Given the description of an element on the screen output the (x, y) to click on. 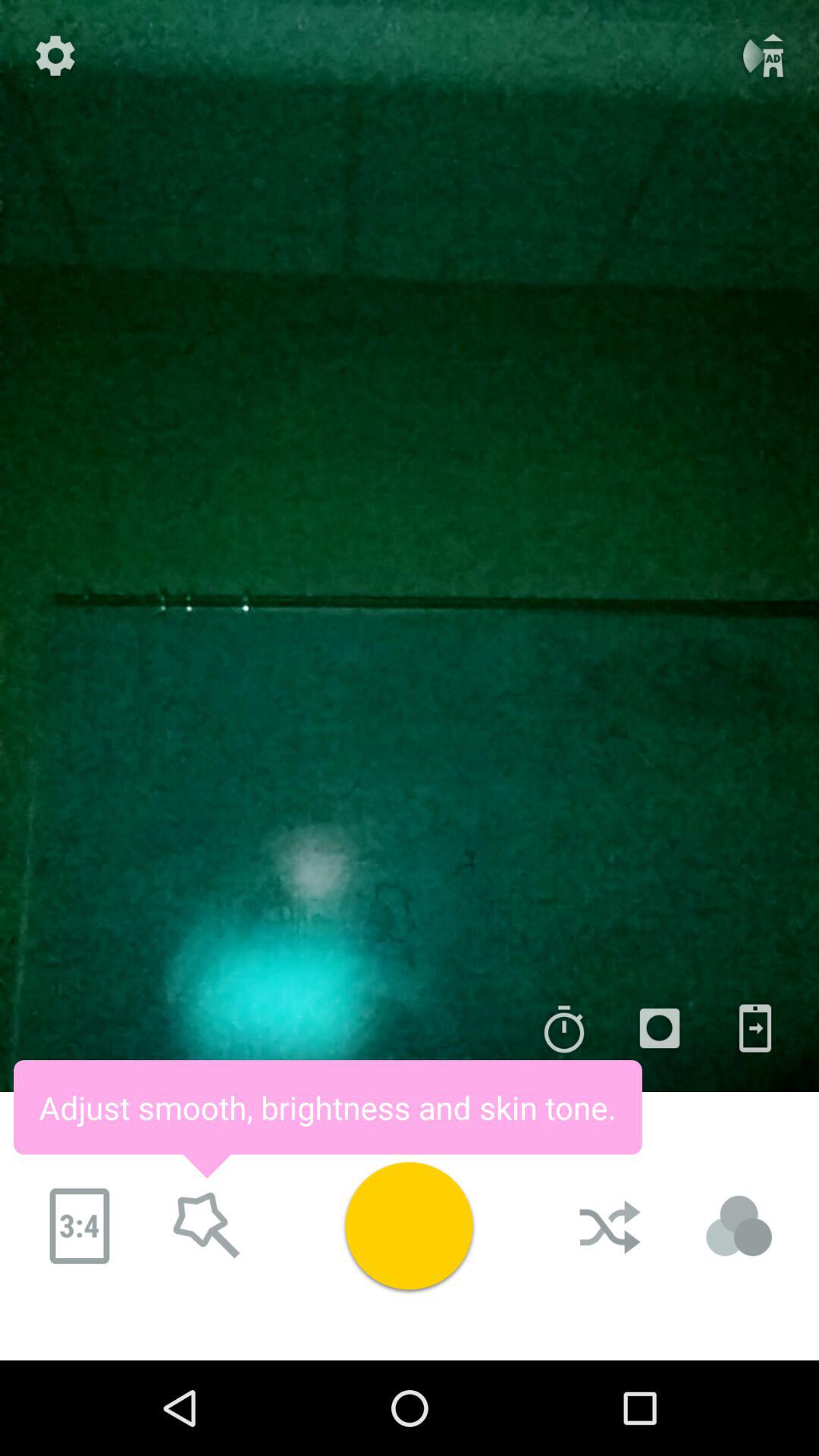
settings (55, 55)
